Given the description of an element on the screen output the (x, y) to click on. 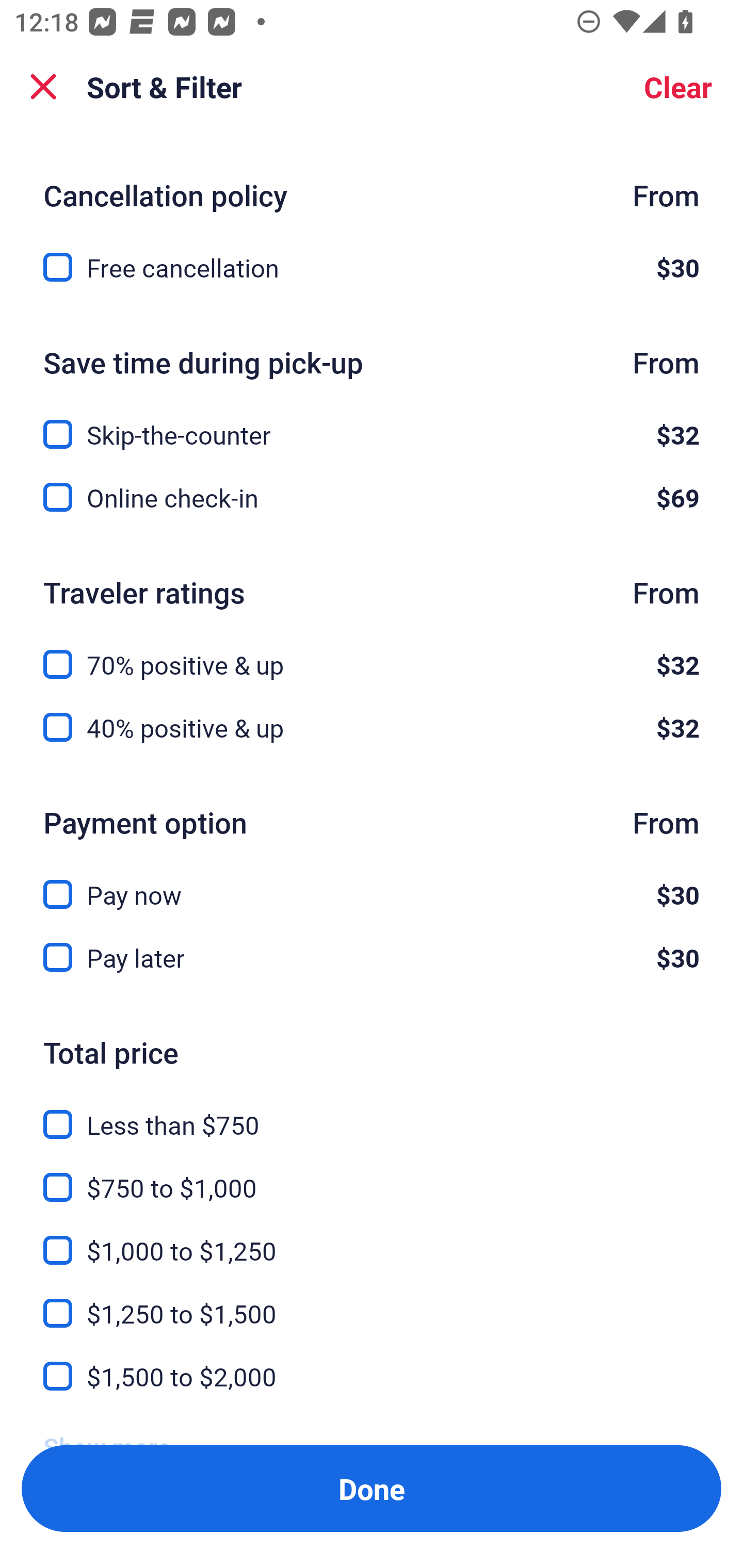
Close Sort and Filter (43, 86)
Clear (677, 86)
Free cancellation, $30 Free cancellation $30 (371, 267)
Skip-the-counter, $32 Skip-the-counter $32 (371, 423)
Online check-in, $69 Online check-in $69 (371, 497)
70% positive & up, $32 70% positive & up $32 (371, 652)
40% positive & up, $32 40% positive & up $32 (371, 728)
Pay now, $30 Pay now $30 (371, 882)
Pay later, $30 Pay later $30 (371, 957)
Less than $750, Less than $750 (371, 1112)
$750 to $1,000, $750 to $1,000 (371, 1175)
$1,000 to $1,250, $1,000 to $1,250 (371, 1238)
$1,250 to $1,500, $1,250 to $1,500 (371, 1301)
$1,500 to $2,000, $1,500 to $2,000 (371, 1376)
Apply and close Sort and Filter Done (371, 1488)
